Given the description of an element on the screen output the (x, y) to click on. 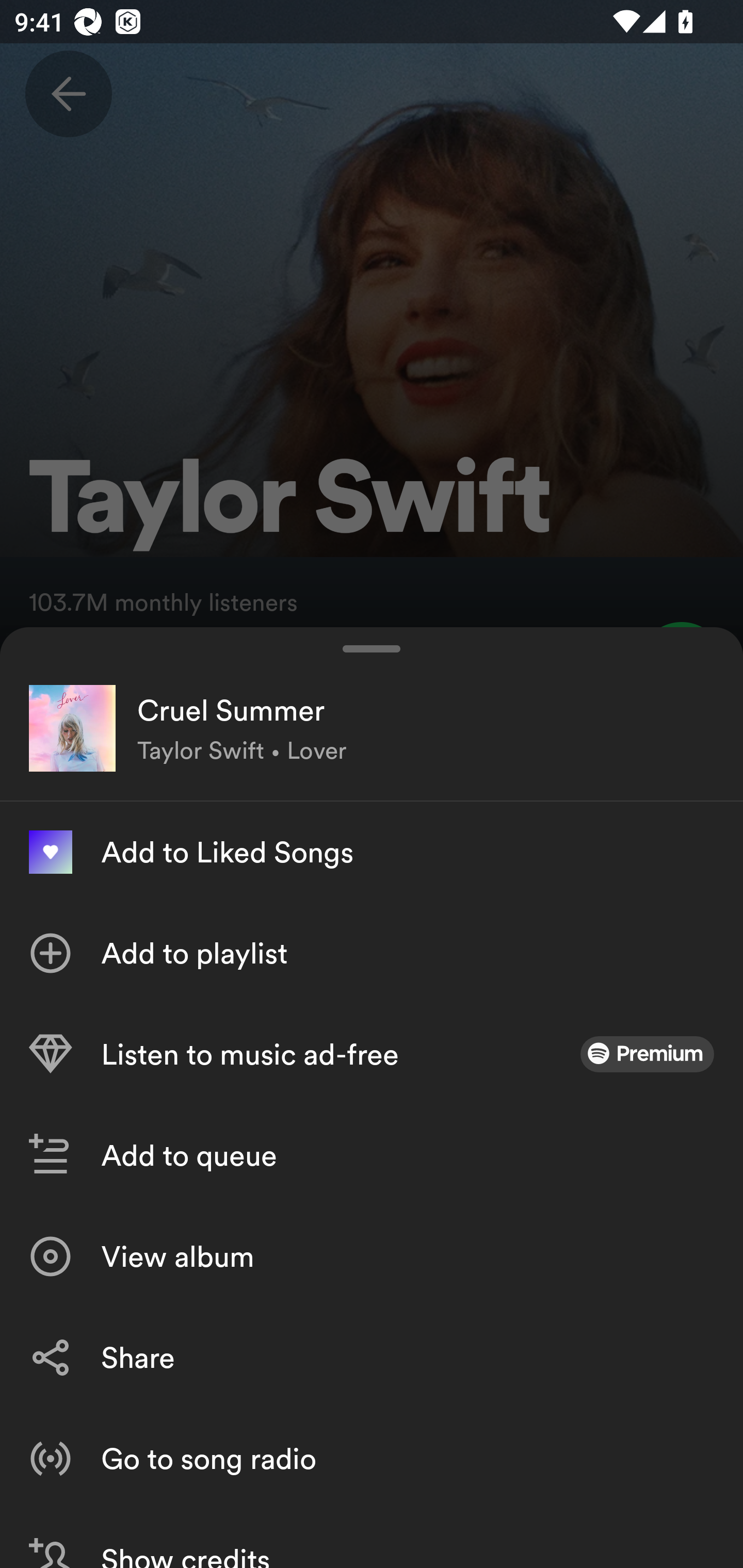
Add to Liked Songs (371, 852)
Add to playlist (371, 953)
Listen to music ad-free (371, 1054)
Add to queue (371, 1155)
View album (371, 1256)
Share (371, 1357)
Go to song radio (371, 1458)
